Given the description of an element on the screen output the (x, y) to click on. 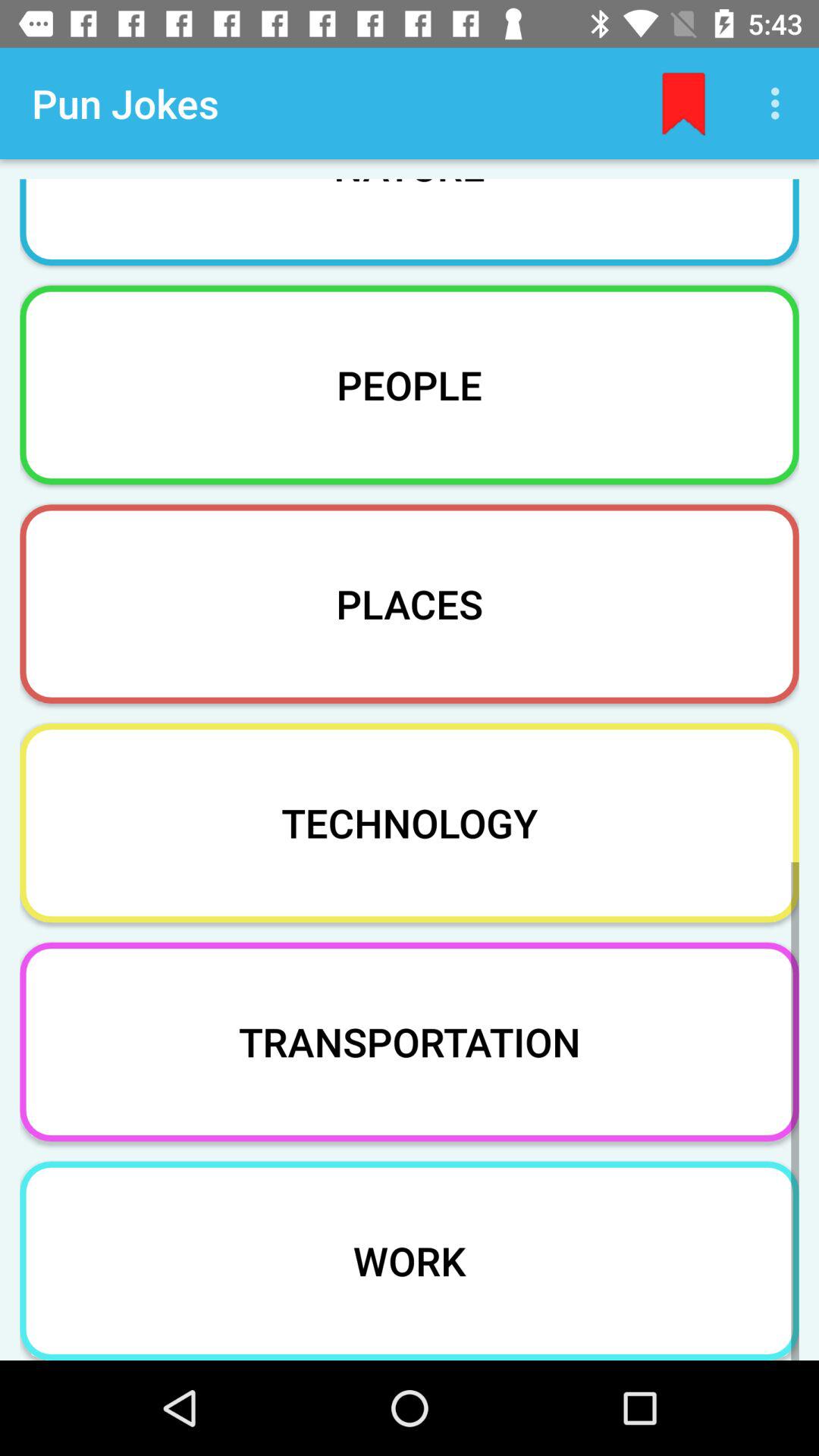
scroll until the technology (409, 822)
